Given the description of an element on the screen output the (x, y) to click on. 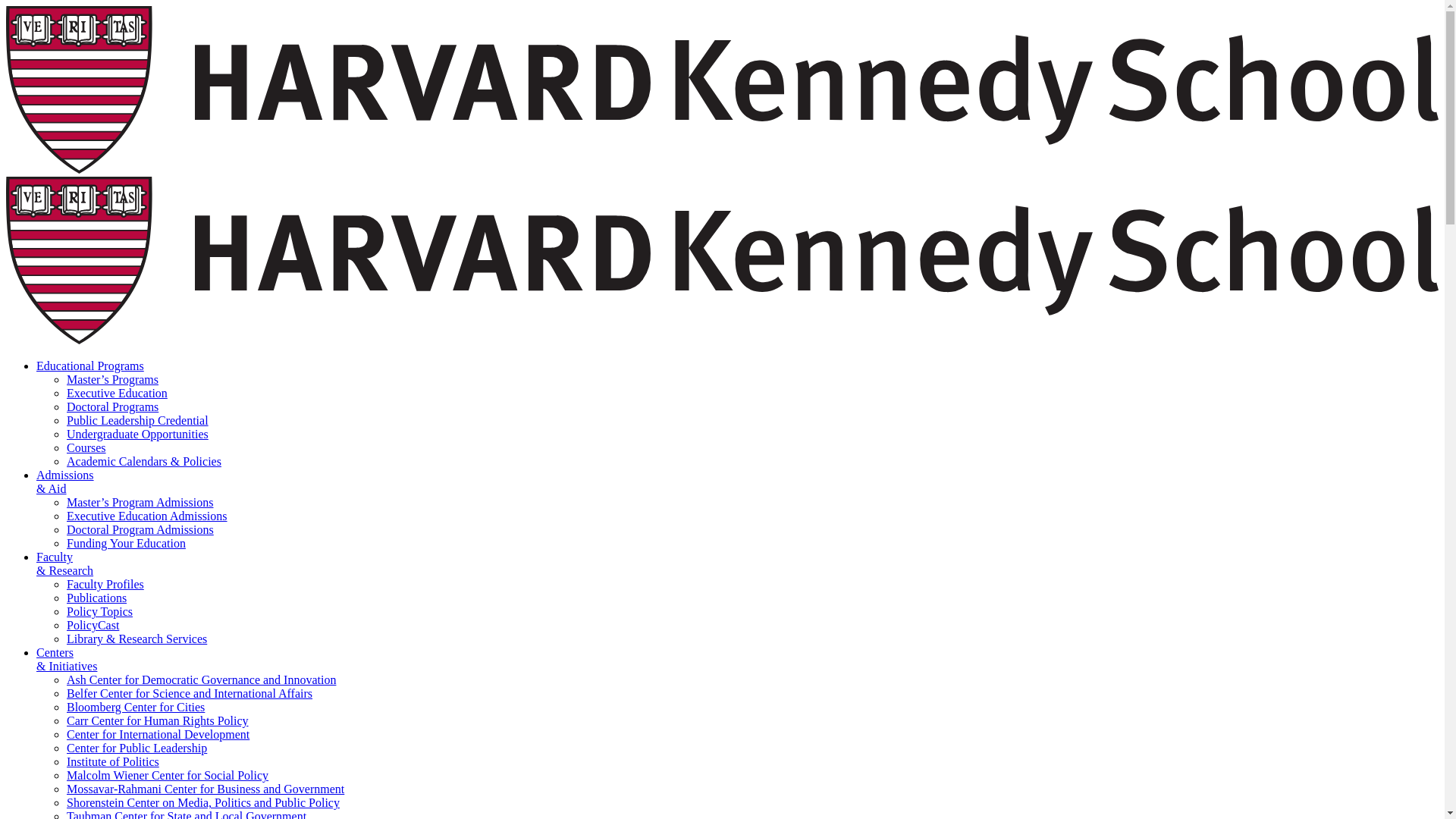
Malcolm Wiener Center for Social Policy (166, 775)
Educational Programs (90, 365)
Publications (96, 597)
Taubman Center for State and Local Government (185, 814)
Funding Your Education (126, 543)
Policy Topics (99, 611)
Undergraduate Opportunities (137, 433)
Executive Education Admissions (146, 515)
PolicyCast (92, 625)
Bloomberg Center for Cities (135, 707)
